Given the description of an element on the screen output the (x, y) to click on. 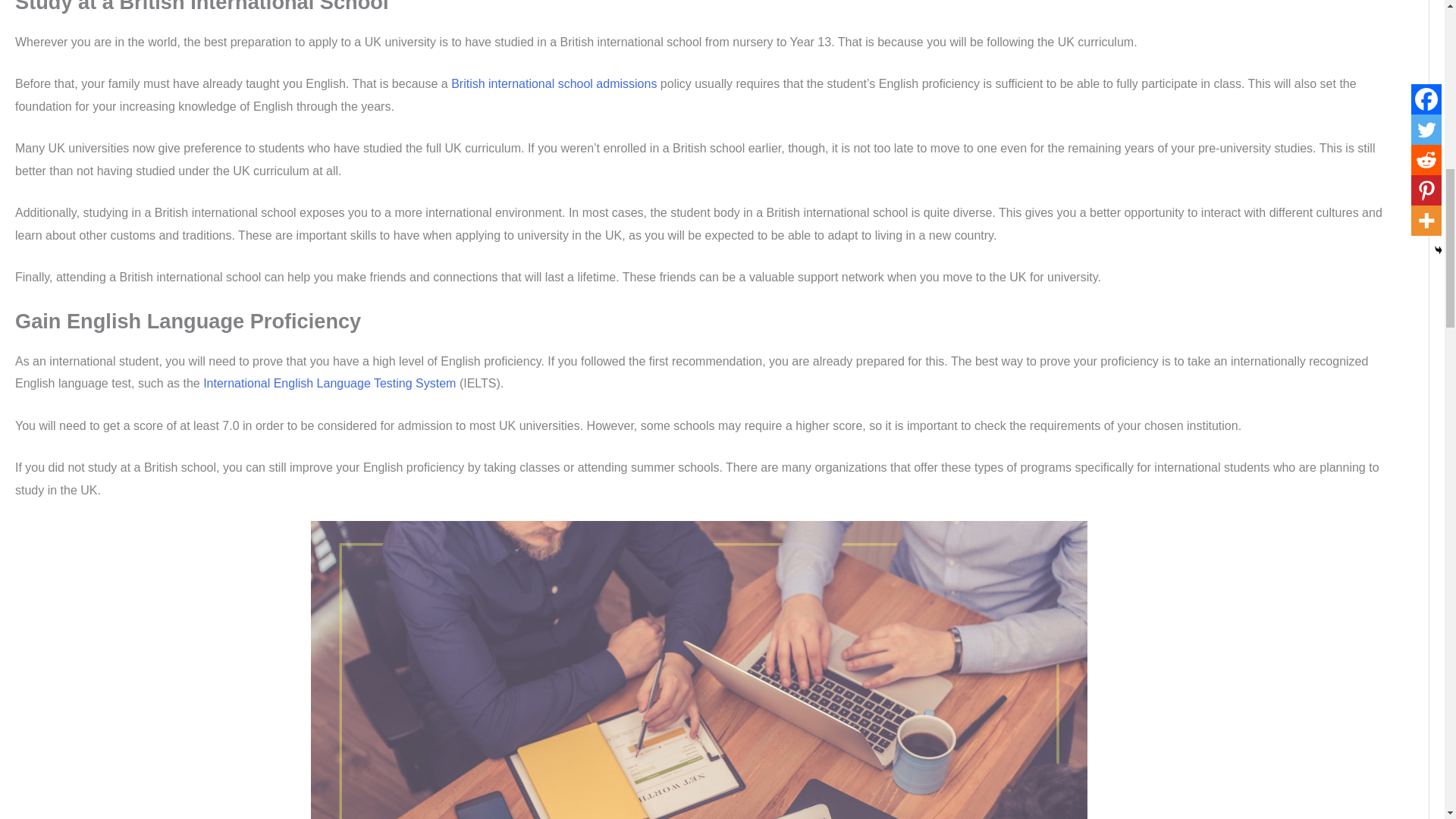
International English Language Testing System (329, 382)
British international school admissions (553, 83)
